Given the description of an element on the screen output the (x, y) to click on. 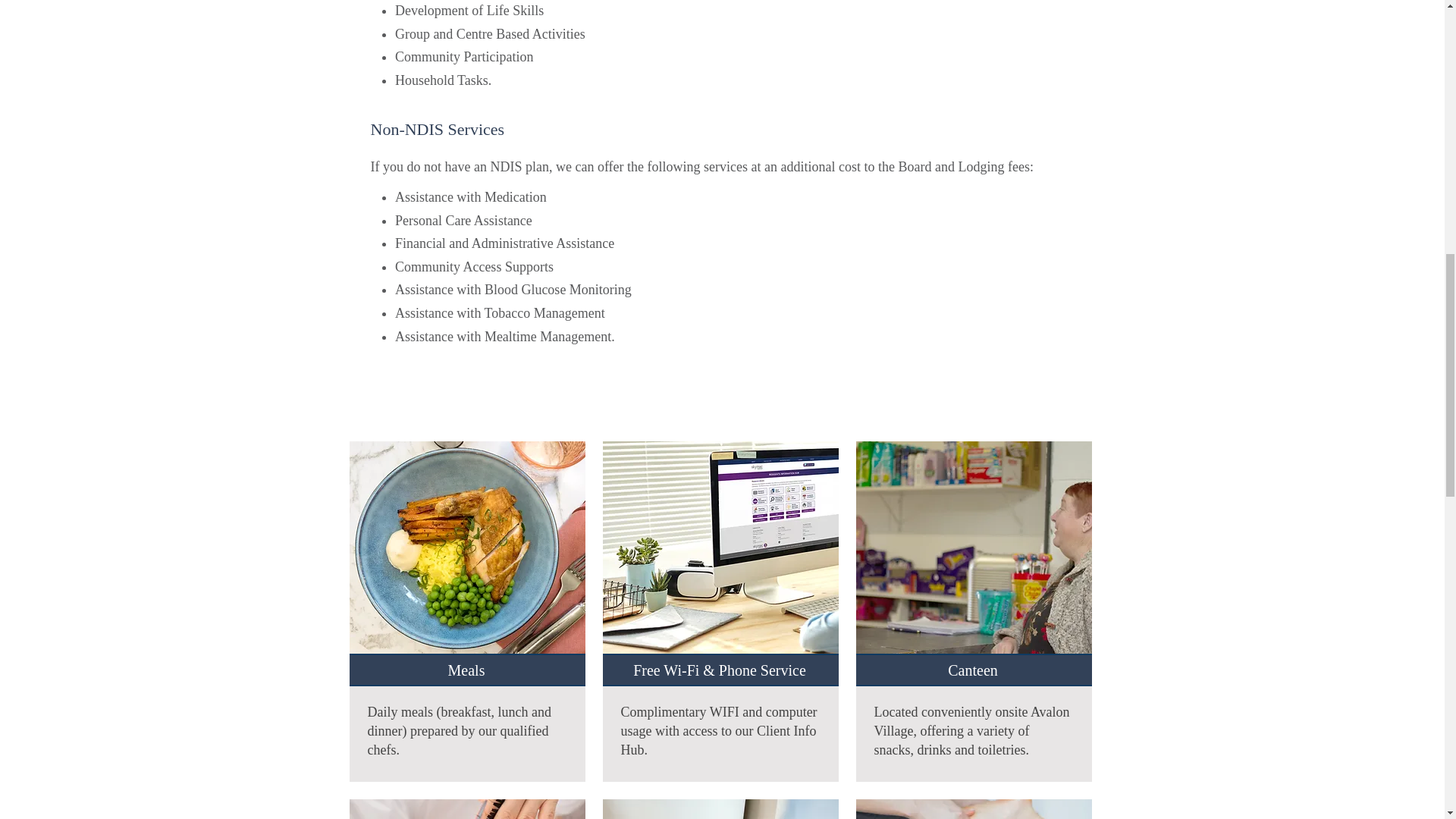
Desktop computer in communal area (720, 555)
Visiting hairdresser cutting hair (467, 806)
Resident at in-house canteen (973, 555)
Doing laundry (720, 806)
Podiatrist providing treatment (973, 806)
Roast dinner with vegetables (467, 555)
